Given the description of an element on the screen output the (x, y) to click on. 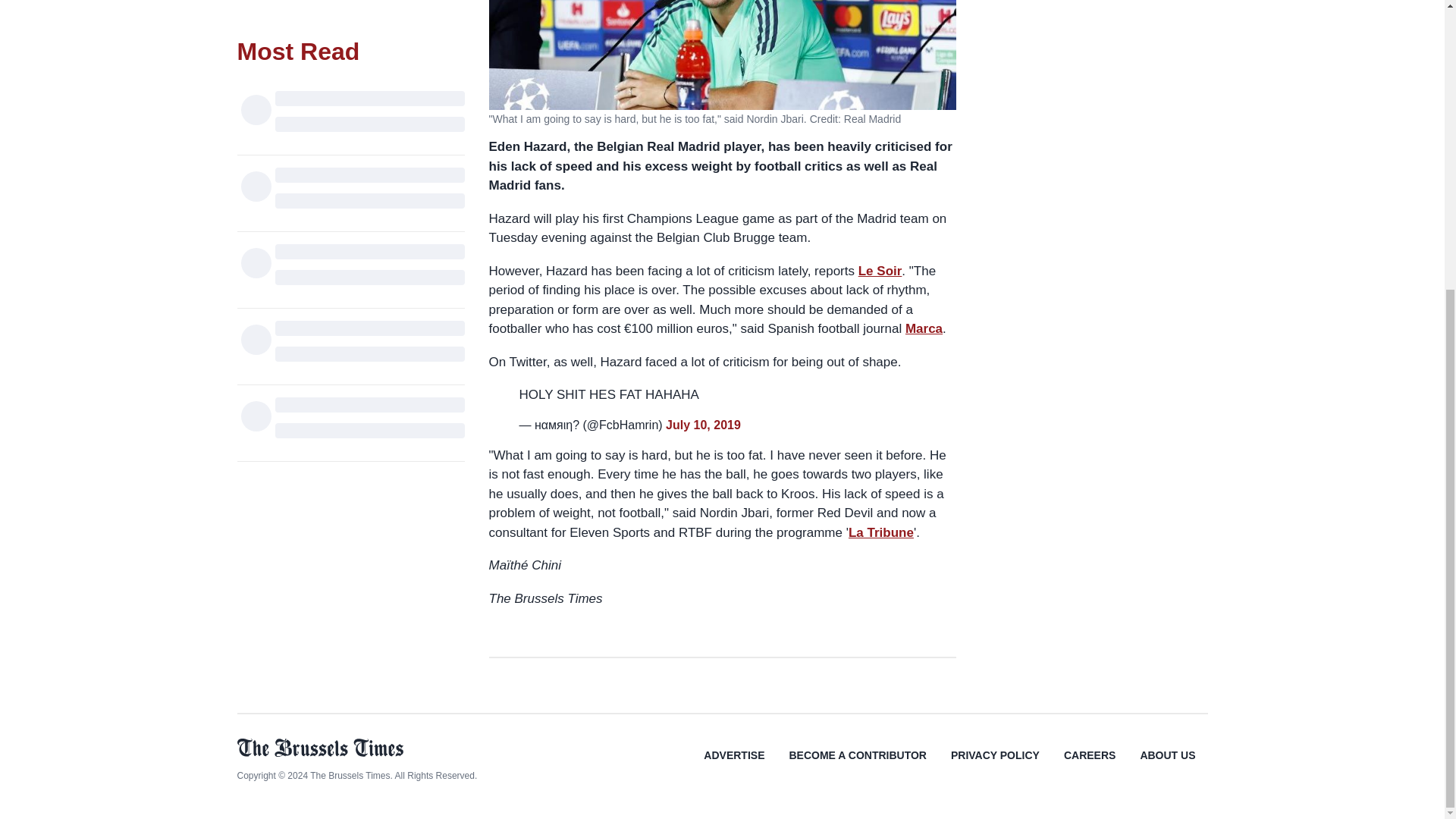
July 10, 2019 (703, 424)
ABOUT US (1166, 766)
La Tribune (881, 532)
Le Soir (880, 270)
BECOME A CONTRIBUTOR (856, 766)
ADVERTISE (733, 766)
Marca (923, 328)
CAREERS (1088, 766)
PRIVACY POLICY (995, 766)
